Given the description of an element on the screen output the (x, y) to click on. 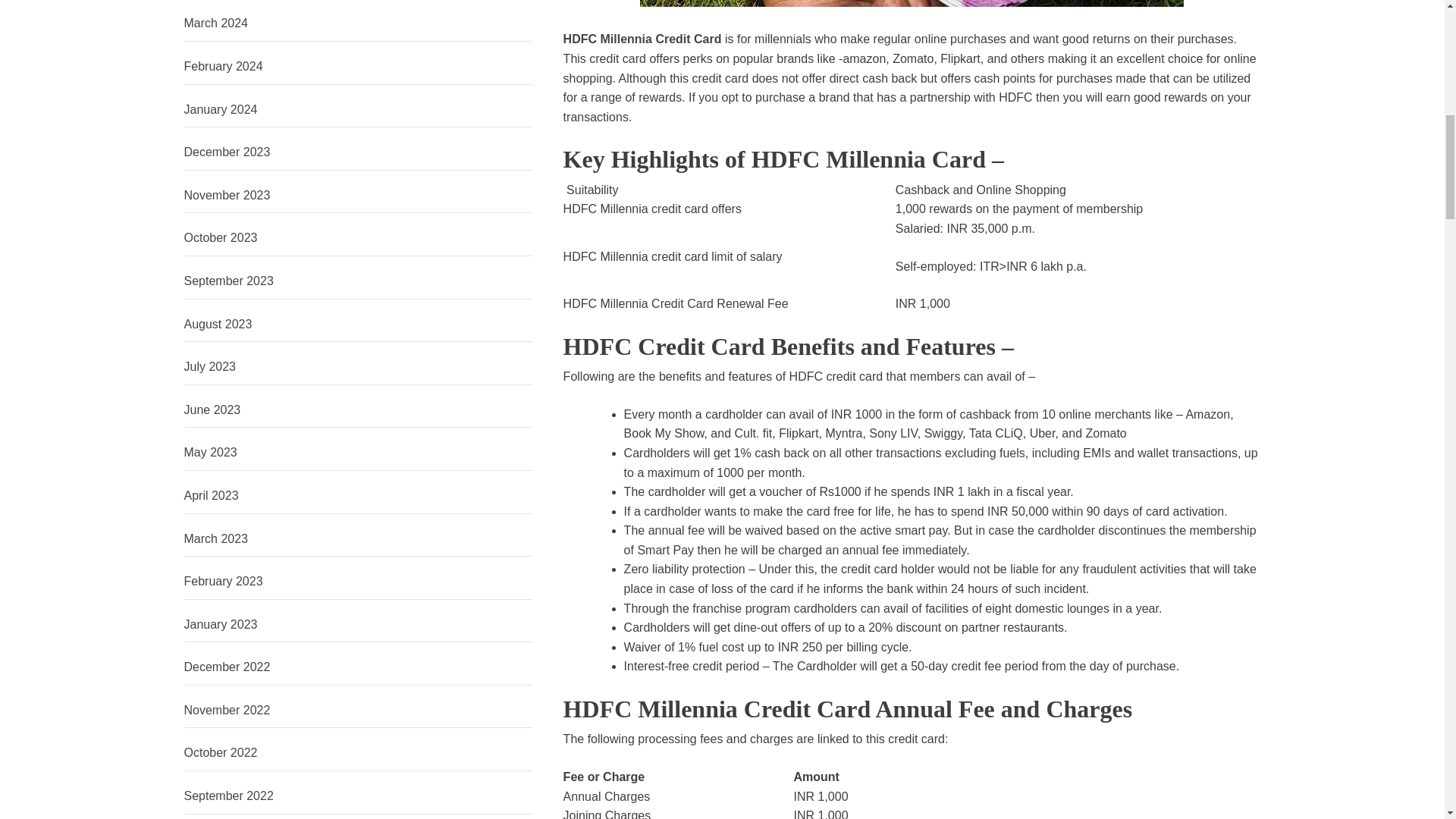
December 2023 (357, 152)
September 2023 (357, 281)
April 2023 (357, 496)
November 2023 (357, 195)
March 2024 (357, 23)
October 2023 (357, 238)
May 2023 (357, 452)
HDFC Millennia Credit Card (642, 38)
January 2024 (357, 109)
August 2023 (357, 325)
January 2023 (357, 624)
July 2023 (357, 366)
June 2023 (357, 410)
February 2024 (357, 67)
March 2023 (357, 539)
